Given the description of an element on the screen output the (x, y) to click on. 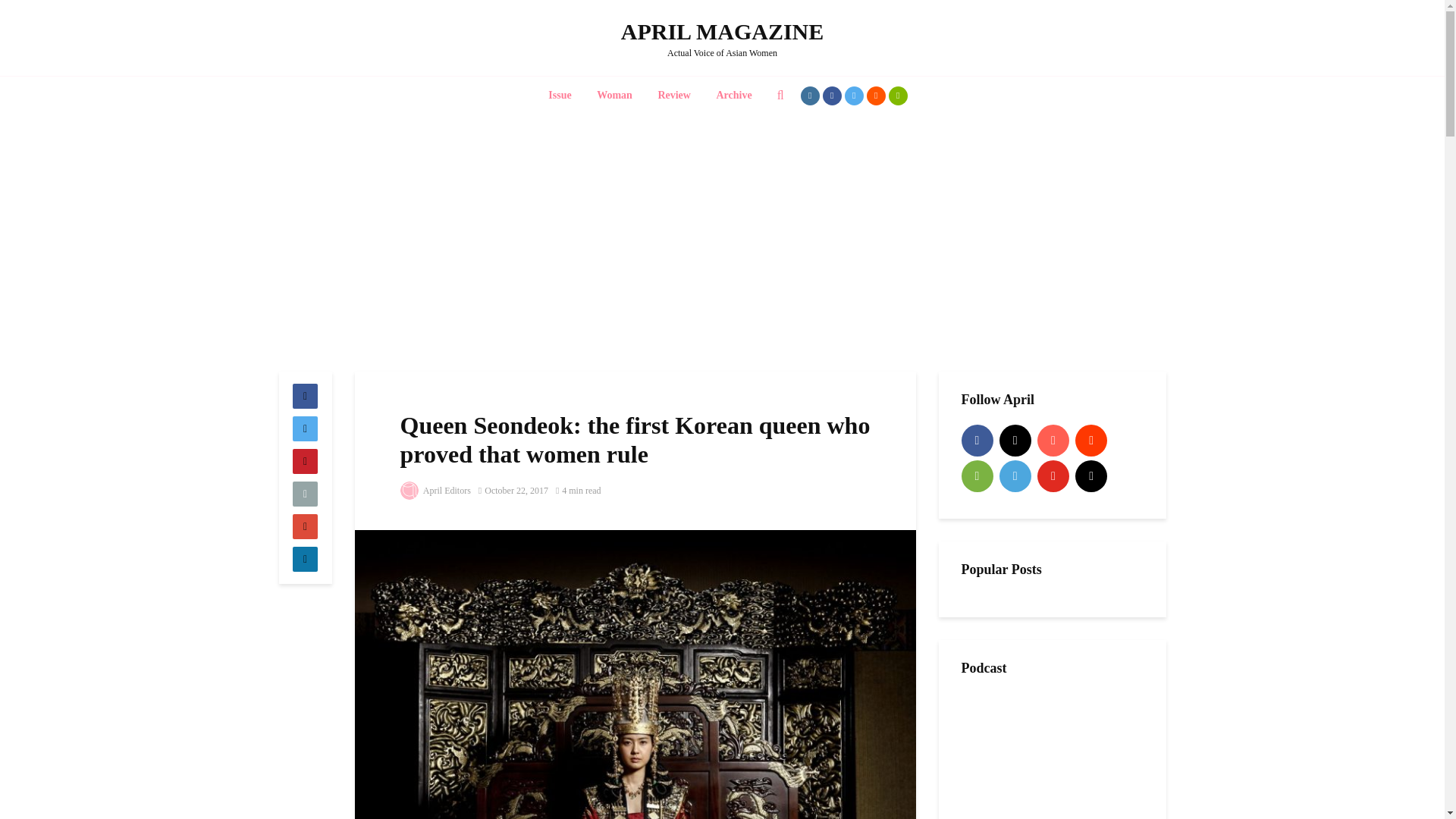
Archive (733, 95)
APRIL MAGAZINE (722, 31)
Review (673, 95)
Issue (559, 95)
Woman (614, 95)
Facebook (976, 440)
Instagram (1014, 440)
